Given the description of an element on the screen output the (x, y) to click on. 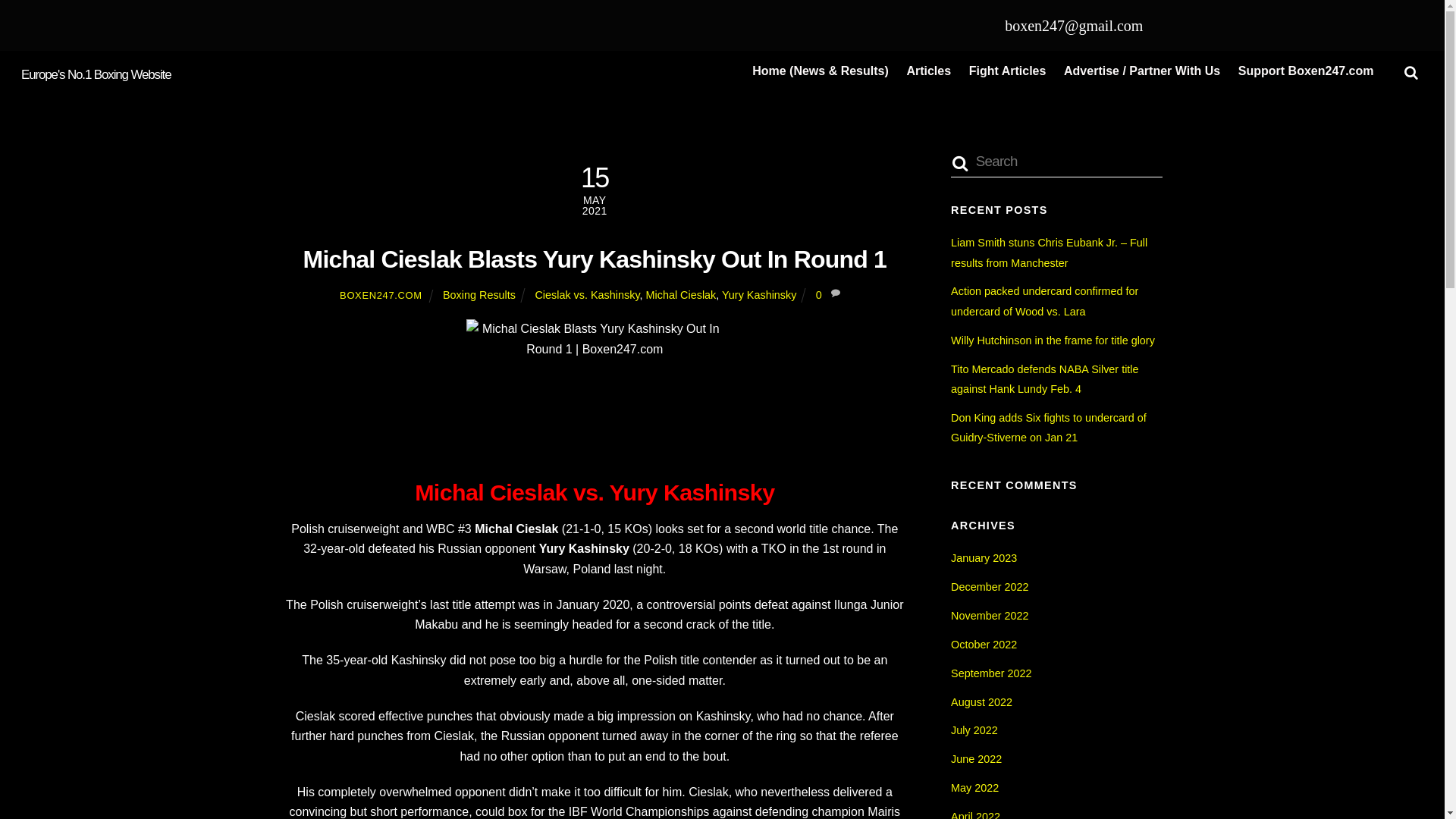
Michal Cieslak Blasts Yury Kashinsky Out In Round 1 (594, 258)
Cieslak vs. Kashinsky (586, 295)
Search (1055, 161)
BOXEN247.COM (380, 295)
Boxing Results (478, 295)
Europe's No.1 Boxing Website (95, 74)
Europe's No.1 Boxing Website (95, 74)
Fight Articles (1006, 71)
Support Boxen247.com (1305, 71)
Articles (928, 71)
